Given the description of an element on the screen output the (x, y) to click on. 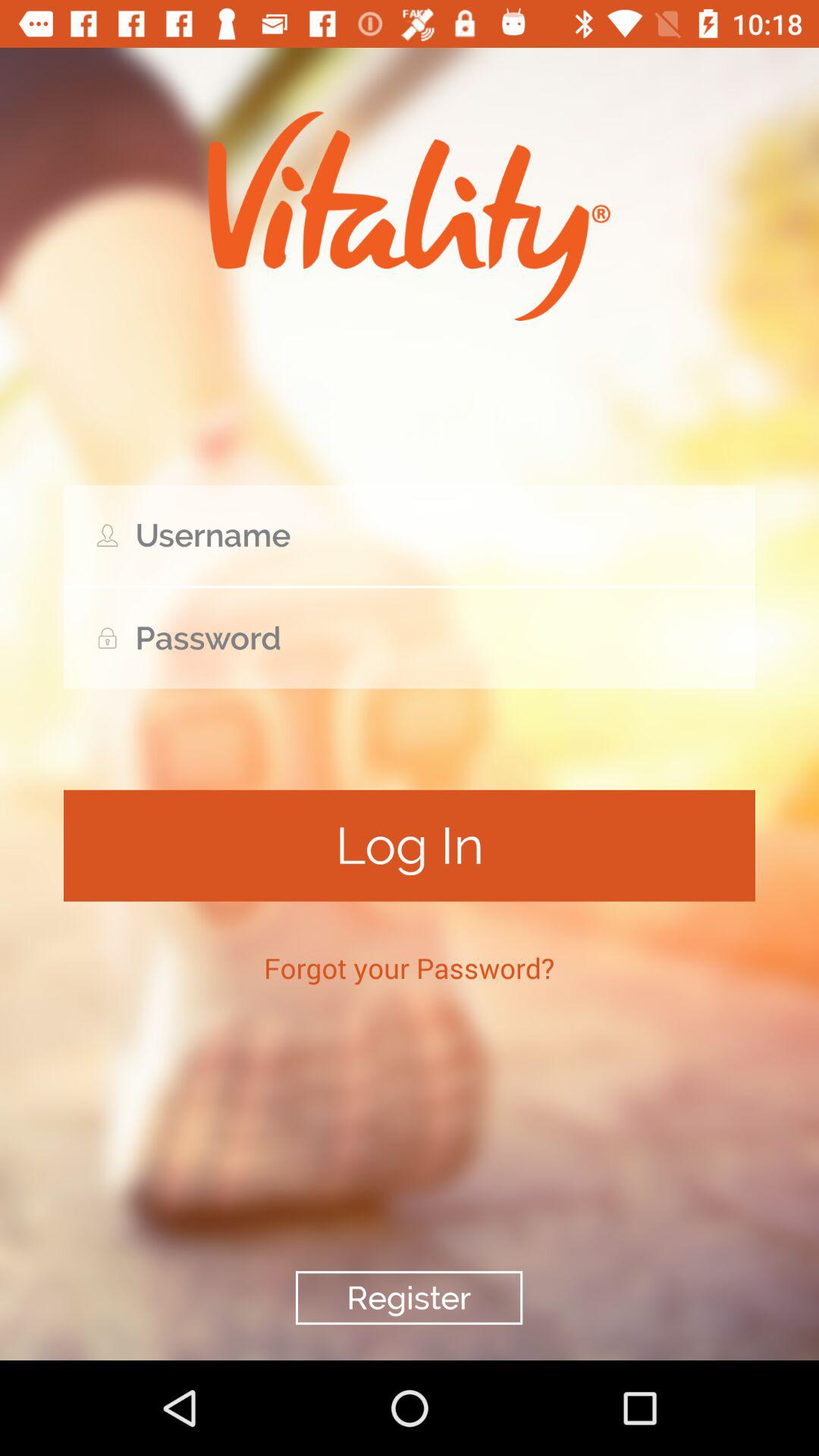
swipe until register (408, 1297)
